Given the description of an element on the screen output the (x, y) to click on. 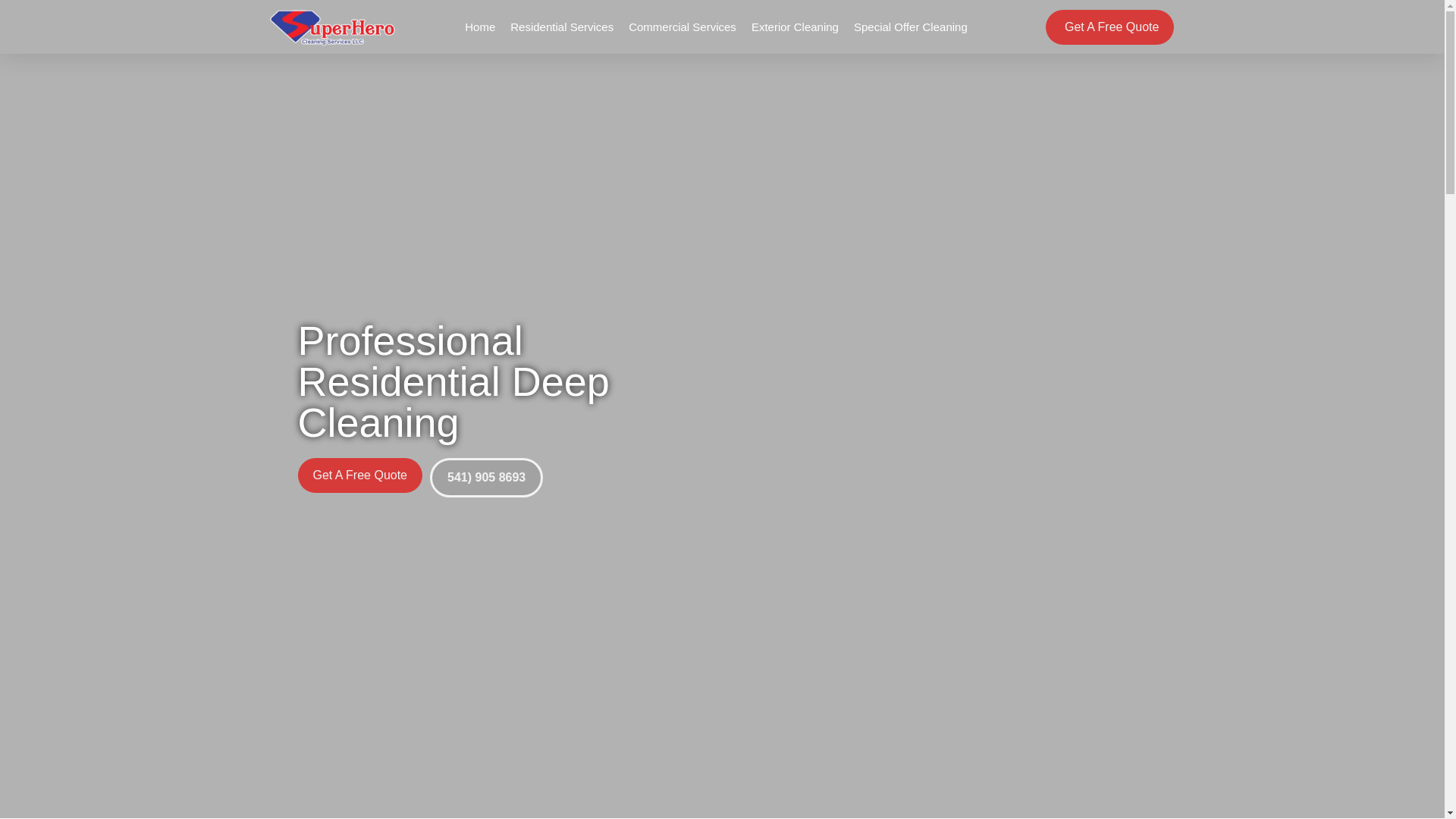
Residential Services (561, 27)
Special Offer Cleaning (910, 27)
Commercial Services (682, 27)
Exterior Cleaning (794, 27)
